Given the description of an element on the screen output the (x, y) to click on. 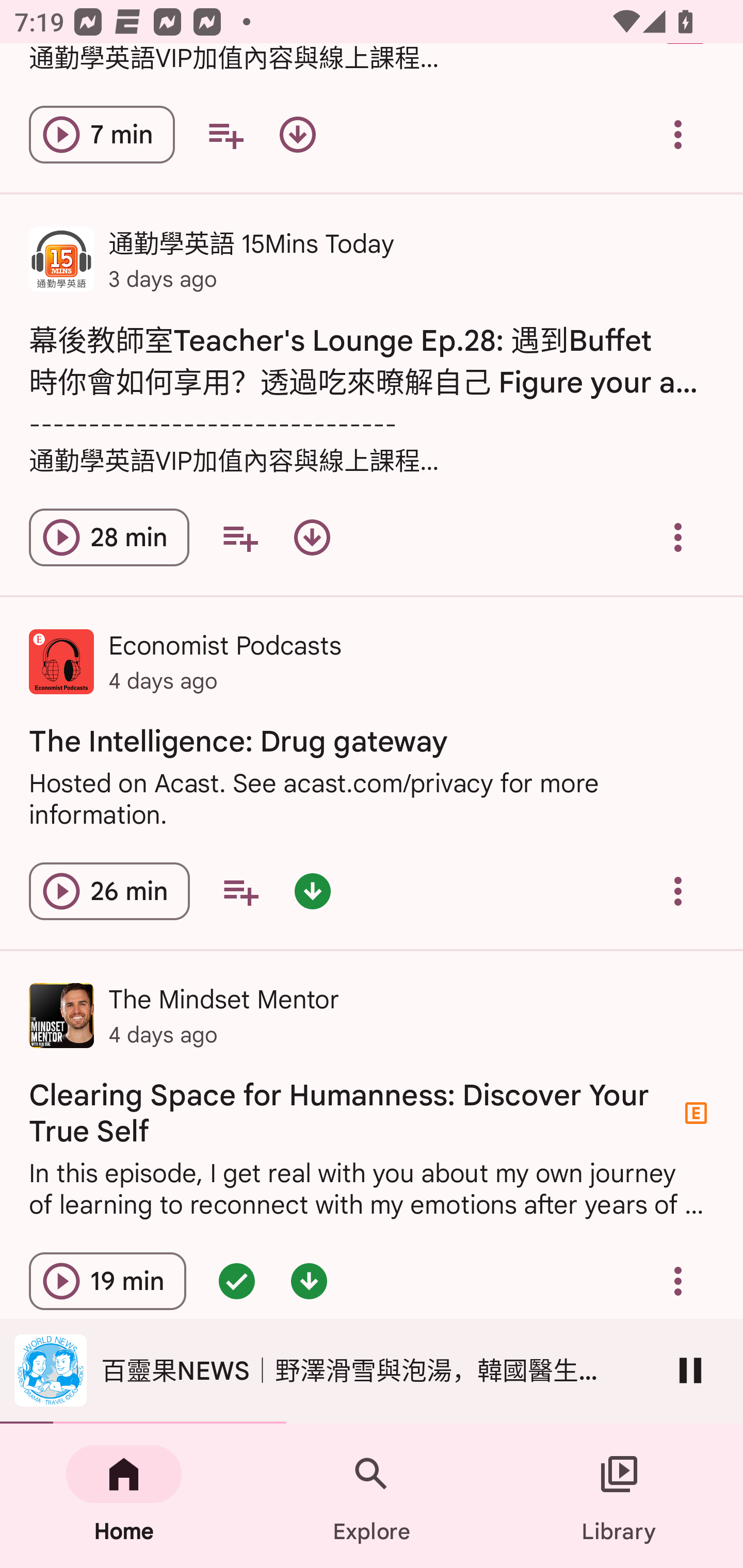
Add to your queue (225, 133)
Download episode (297, 133)
Overflow menu (677, 133)
Add to your queue (239, 536)
Download episode (312, 536)
Overflow menu (677, 536)
Play episode The Intelligence: Drug gateway 26 min (109, 891)
Add to your queue (240, 891)
Episode downloaded - double tap for options (312, 891)
Overflow menu (677, 891)
Episode queued - double tap for options (236, 1280)
Episode downloaded - double tap for options (308, 1280)
Overflow menu (677, 1280)
Pause (690, 1370)
Economist Podcasts Economist Podcasts 5 days ago (371, 1381)
Explore (371, 1495)
Library (619, 1495)
